Given the description of an element on the screen output the (x, y) to click on. 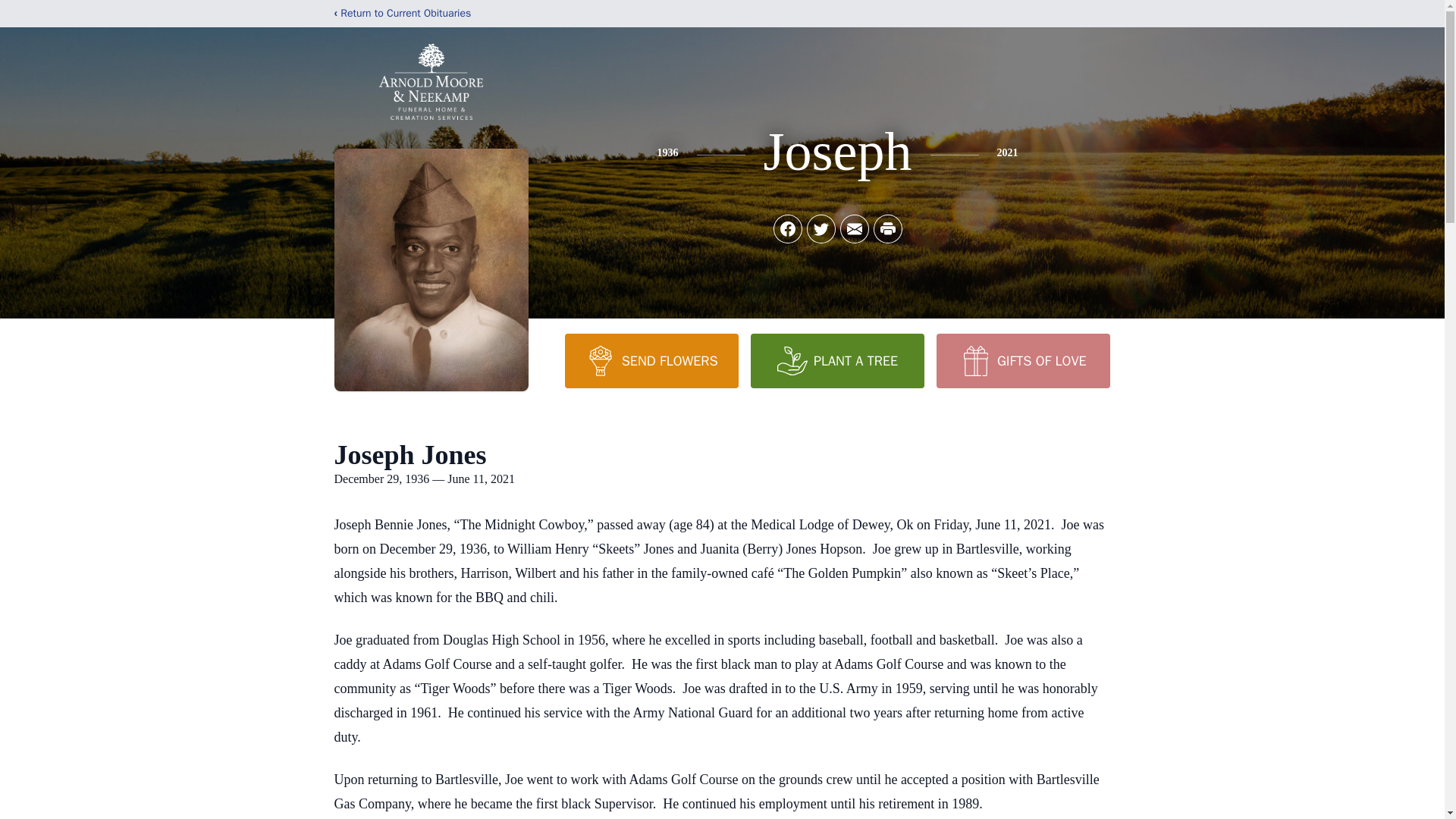
SEND FLOWERS (651, 360)
PLANT A TREE (837, 360)
GIFTS OF LOVE (1022, 360)
